Given the description of an element on the screen output the (x, y) to click on. 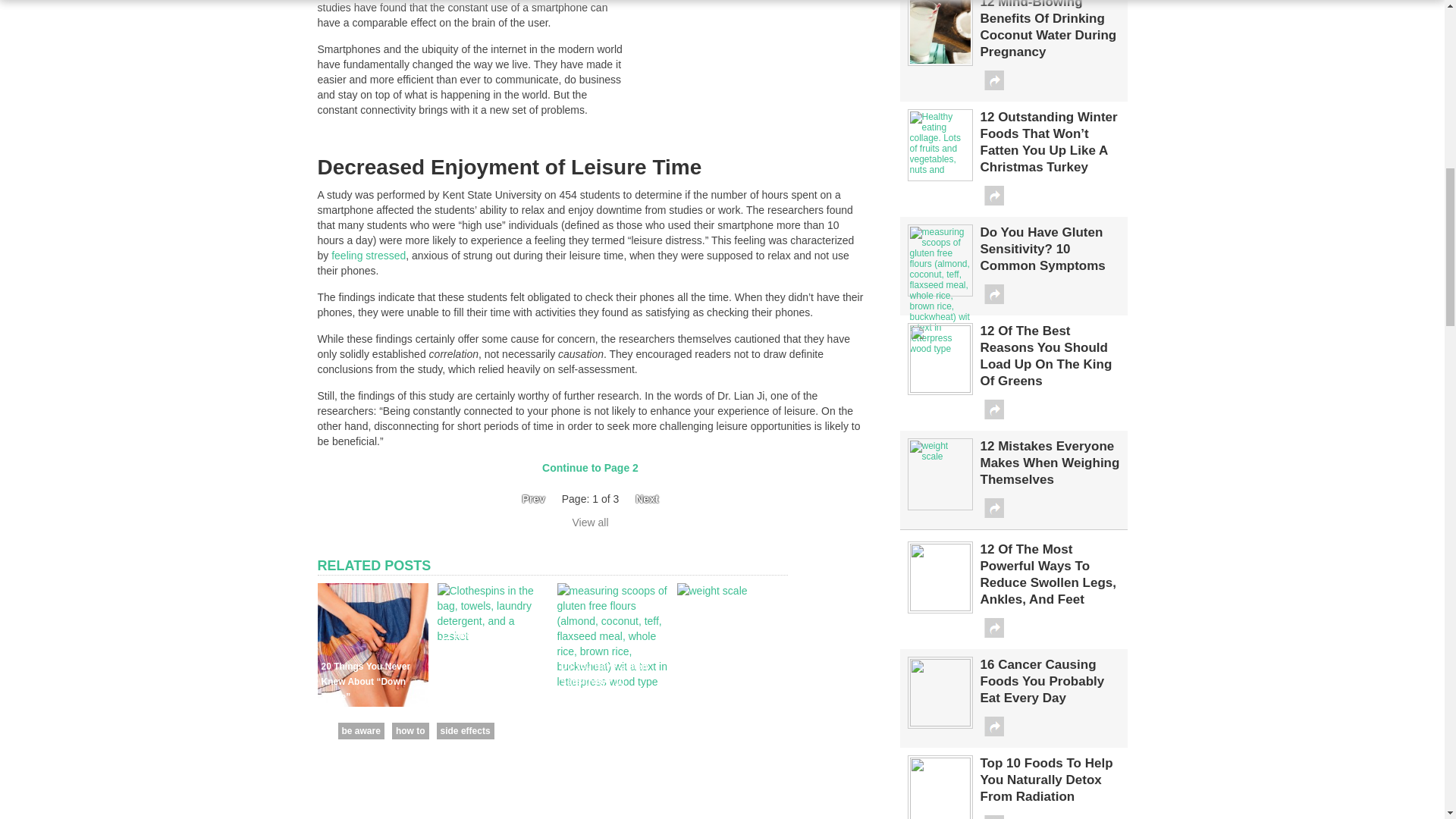
View all (590, 522)
12 Mistakes Everyone Makes When Weighing Themselves (711, 590)
Do You Have Gluten Sensitivity? 10 Common Symptoms (611, 681)
Prev (528, 499)
Next (650, 499)
Do You Have Gluten Sensitivity? 10 Common Symptoms (604, 680)
feeling stressed (368, 255)
